Given the description of an element on the screen output the (x, y) to click on. 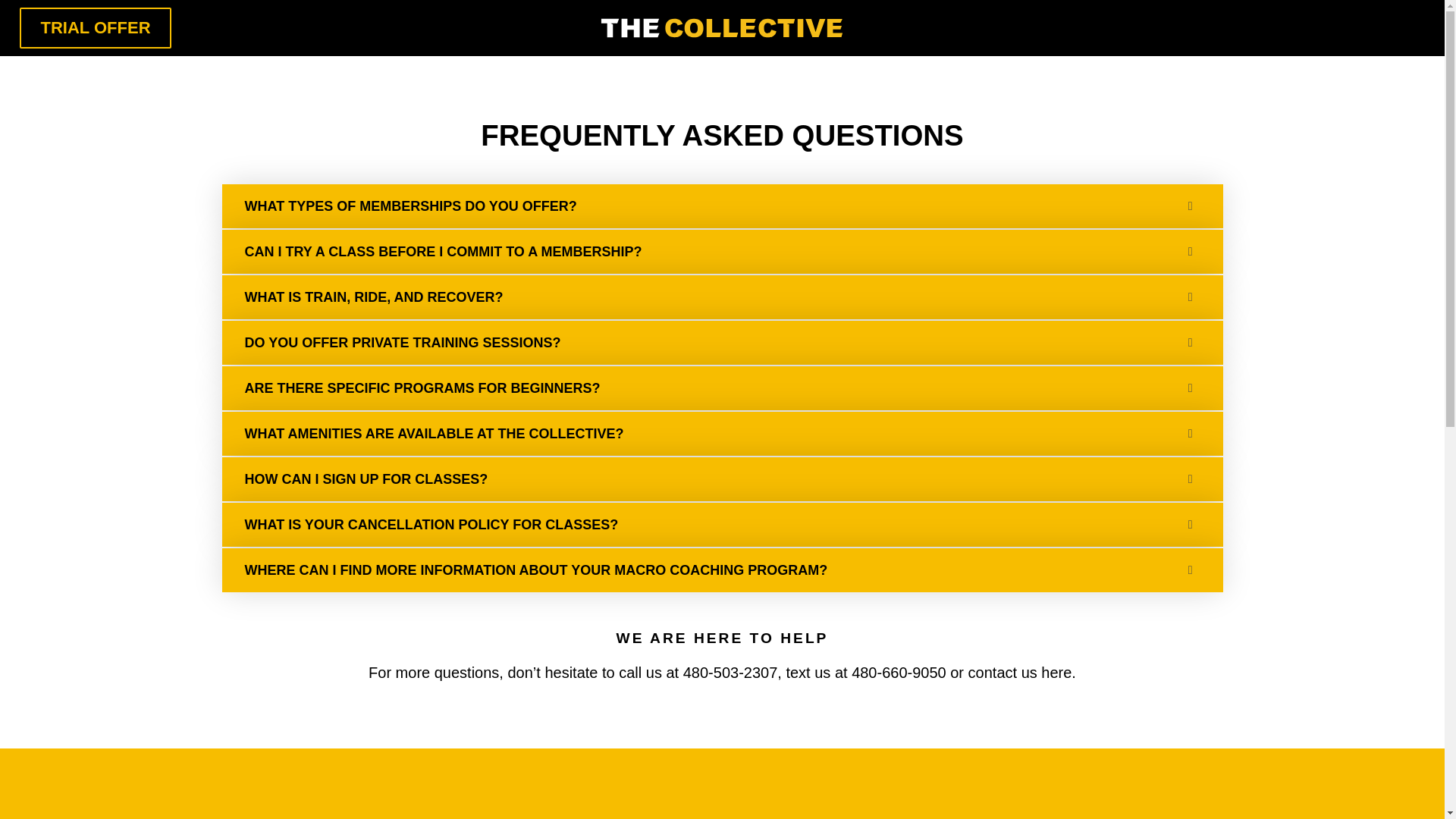
TRIAL OFFER (94, 28)
480-503-2307 (729, 672)
480-660-9050 (898, 672)
contact us (1002, 672)
